Given the description of an element on the screen output the (x, y) to click on. 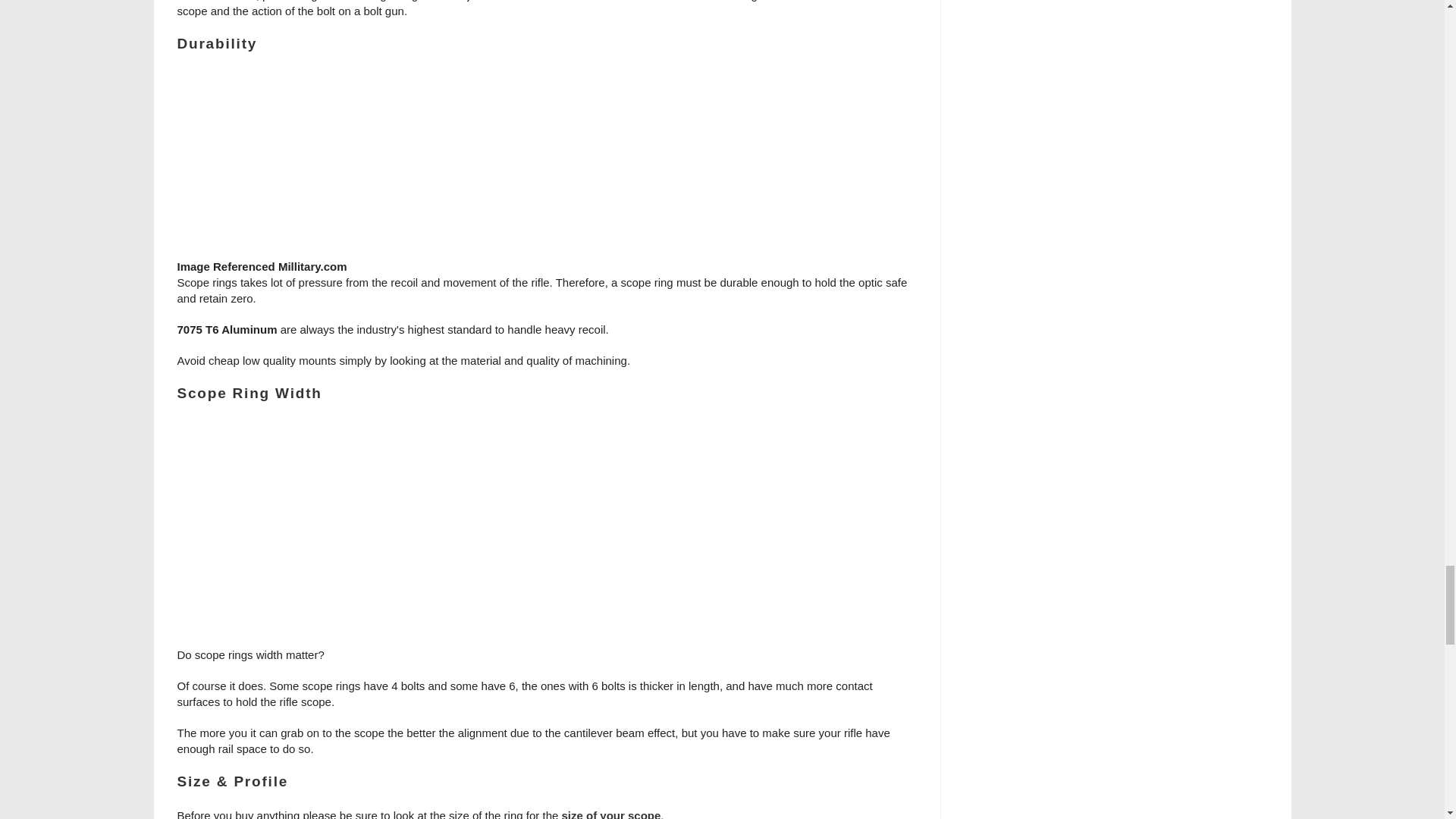
Best 30mm Scope Rings For The Money 6 (546, 533)
Best 30mm Scope Rings For The Money 5 (546, 163)
